Given the description of an element on the screen output the (x, y) to click on. 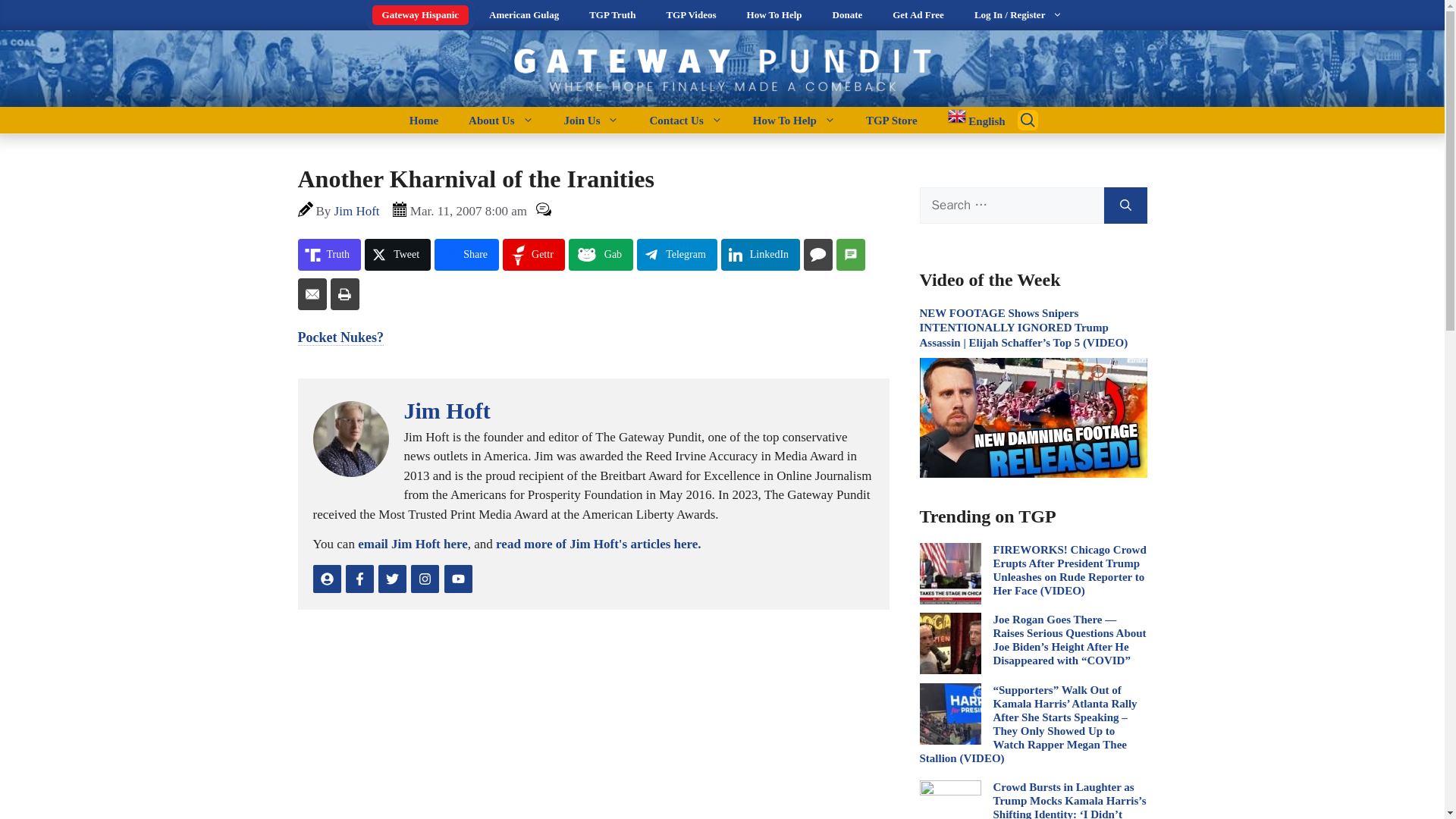
American Gulag (523, 15)
Share on Tweet (397, 255)
About Us (500, 120)
Share on Gettr (533, 255)
Donate (846, 15)
How To Help (794, 120)
TGP Truth (611, 15)
Home (423, 120)
English (969, 120)
TGP Store (891, 120)
Share on Gab (601, 255)
Join Us (591, 120)
